Given the description of an element on the screen output the (x, y) to click on. 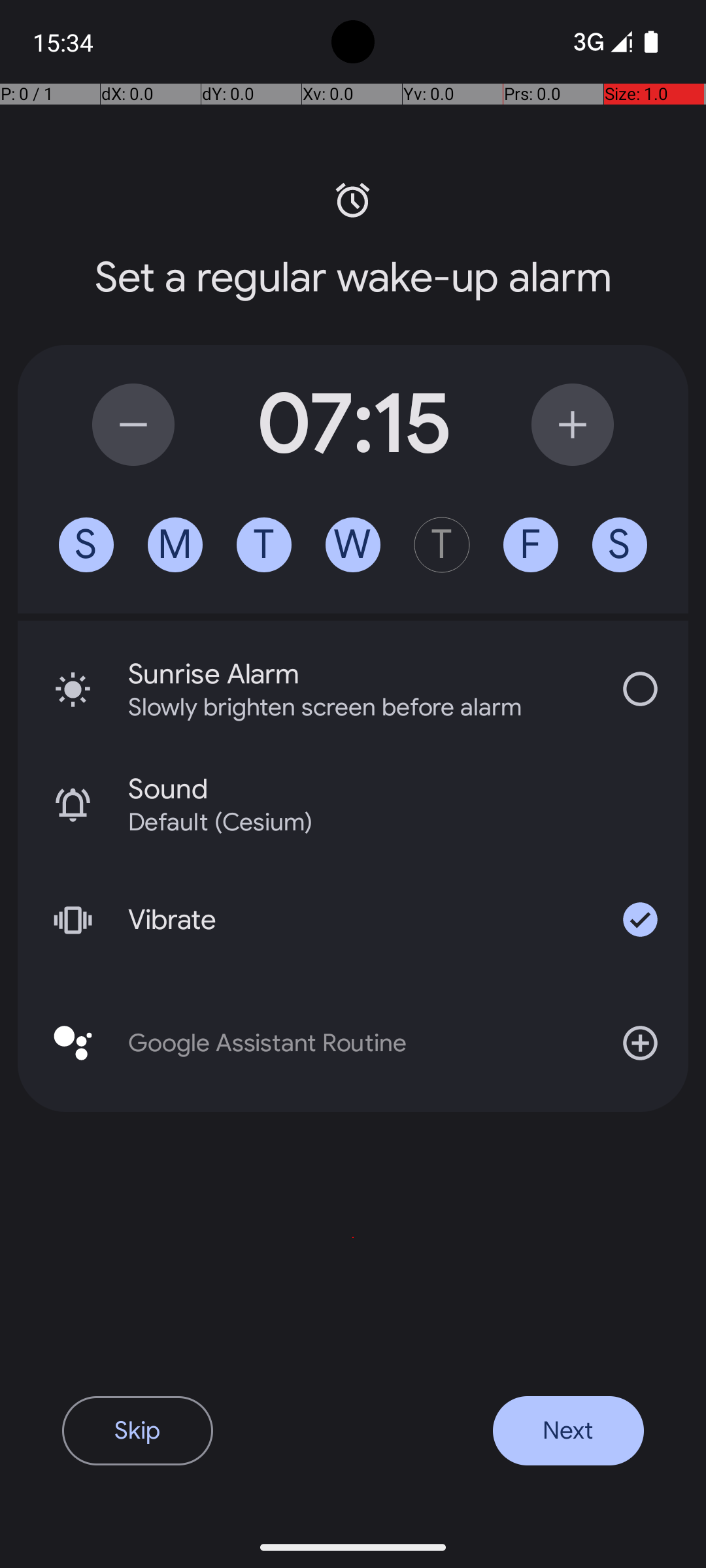
Set a regular wake-up alarm Element type: android.widget.TextView (352, 277)
Fifteen minutes earlier Element type: android.widget.ImageView (133, 424)
07:15 Element type: android.widget.TextView (353, 424)
Fifteen minutes later Element type: android.widget.ImageView (572, 424)
Google Assistant Routine Element type: android.widget.TextView (352, 1043)
Sunrise Alarm Element type: android.widget.TextView (360, 673)
Slowly brighten screen before alarm Element type: android.widget.TextView (342, 706)
